Given the description of an element on the screen output the (x, y) to click on. 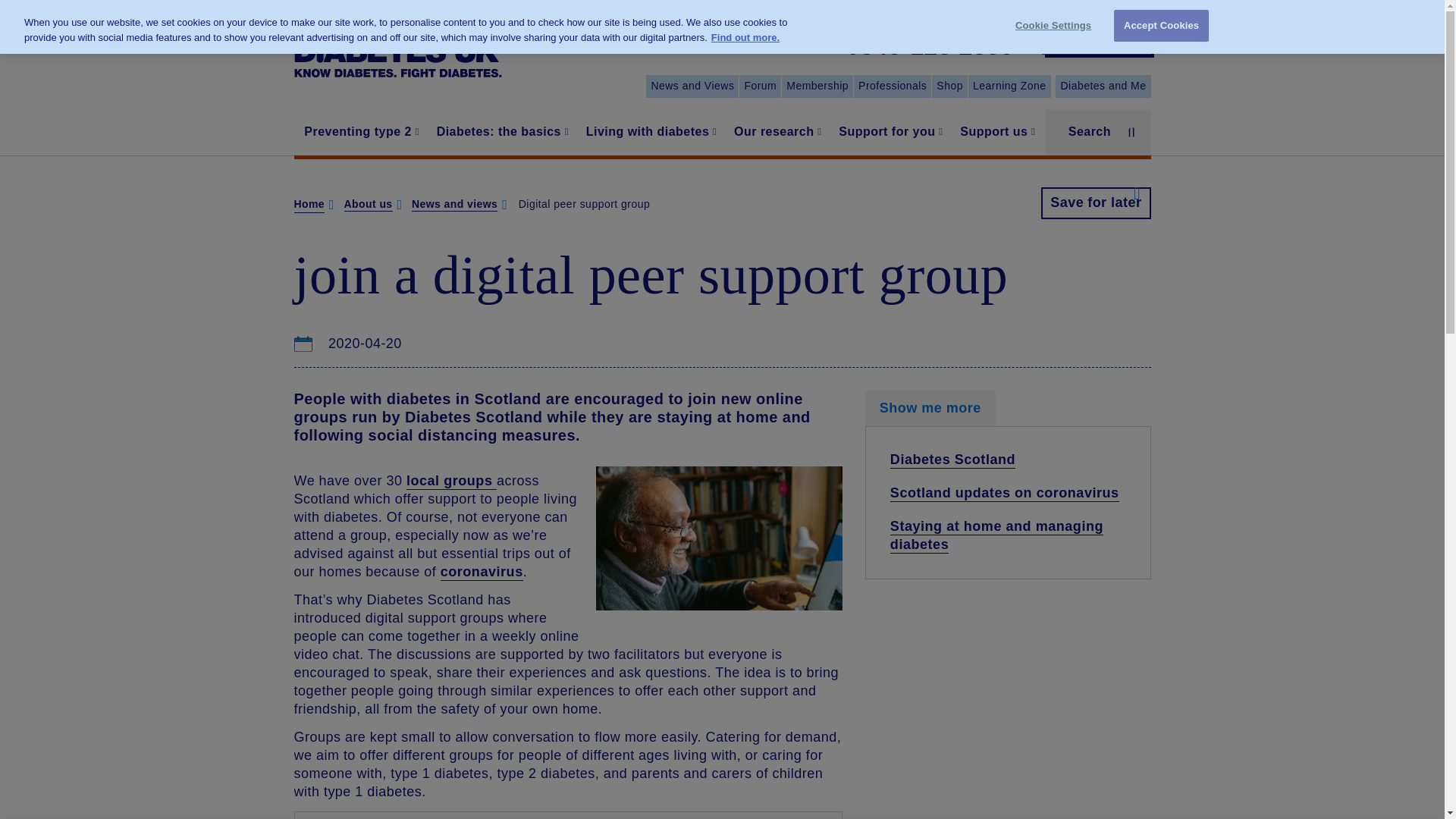
Diabetes and Me (1102, 86)
Membership (817, 86)
News and Views (692, 86)
Donate (1096, 37)
Preventing type 2 (360, 132)
Diabetes: the basics (500, 132)
Home (398, 47)
Forum (759, 86)
Shop (949, 86)
Professionals (892, 86)
